Given the description of an element on the screen output the (x, y) to click on. 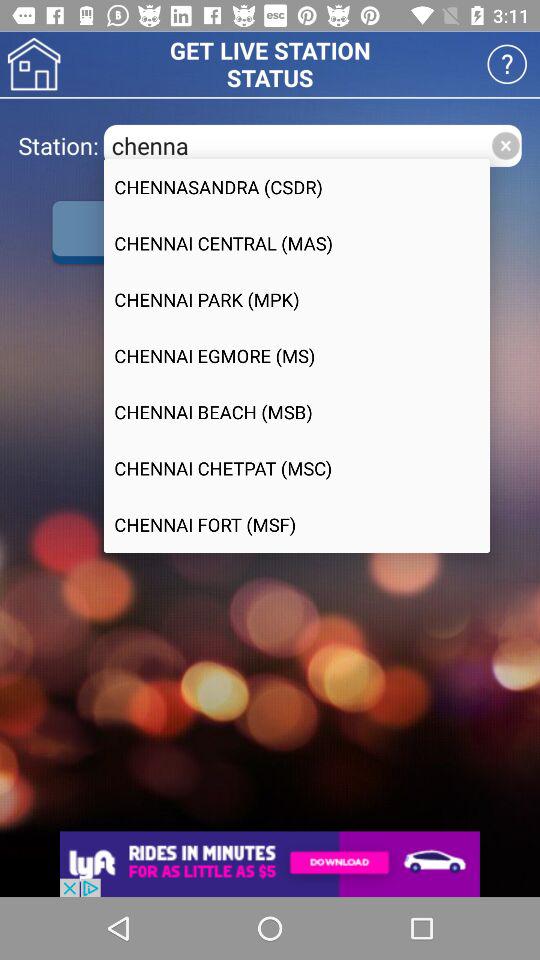
remove station (505, 145)
